Given the description of an element on the screen output the (x, y) to click on. 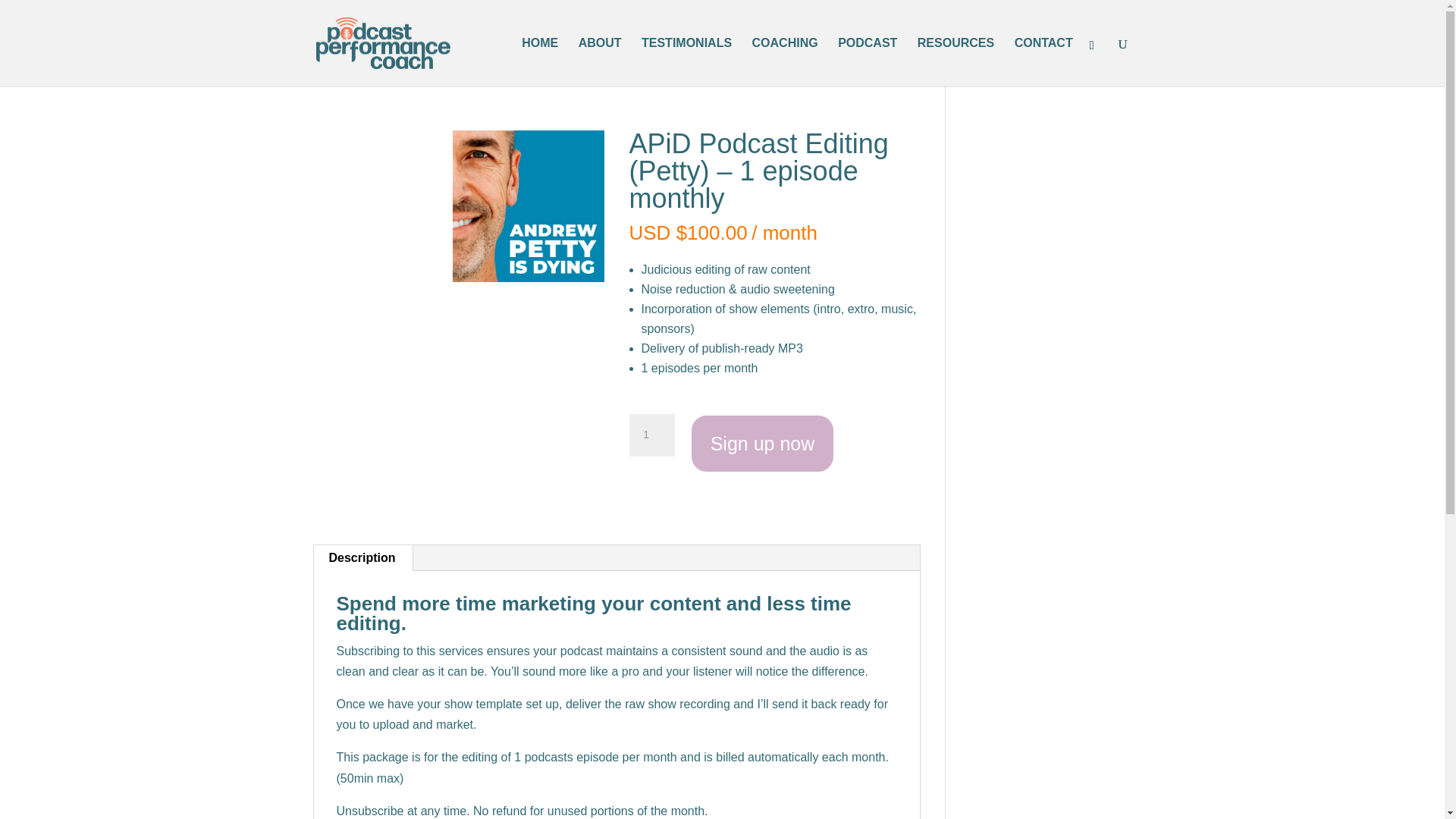
ABOUT (599, 61)
CONTACT (1043, 61)
PODCAST (867, 61)
Sign up now (762, 443)
HOME (539, 61)
Podcast Cover (528, 205)
RESOURCES (955, 61)
1 (651, 435)
COACHING (785, 61)
TESTIMONIALS (687, 61)
Description (362, 557)
